Given the description of an element on the screen output the (x, y) to click on. 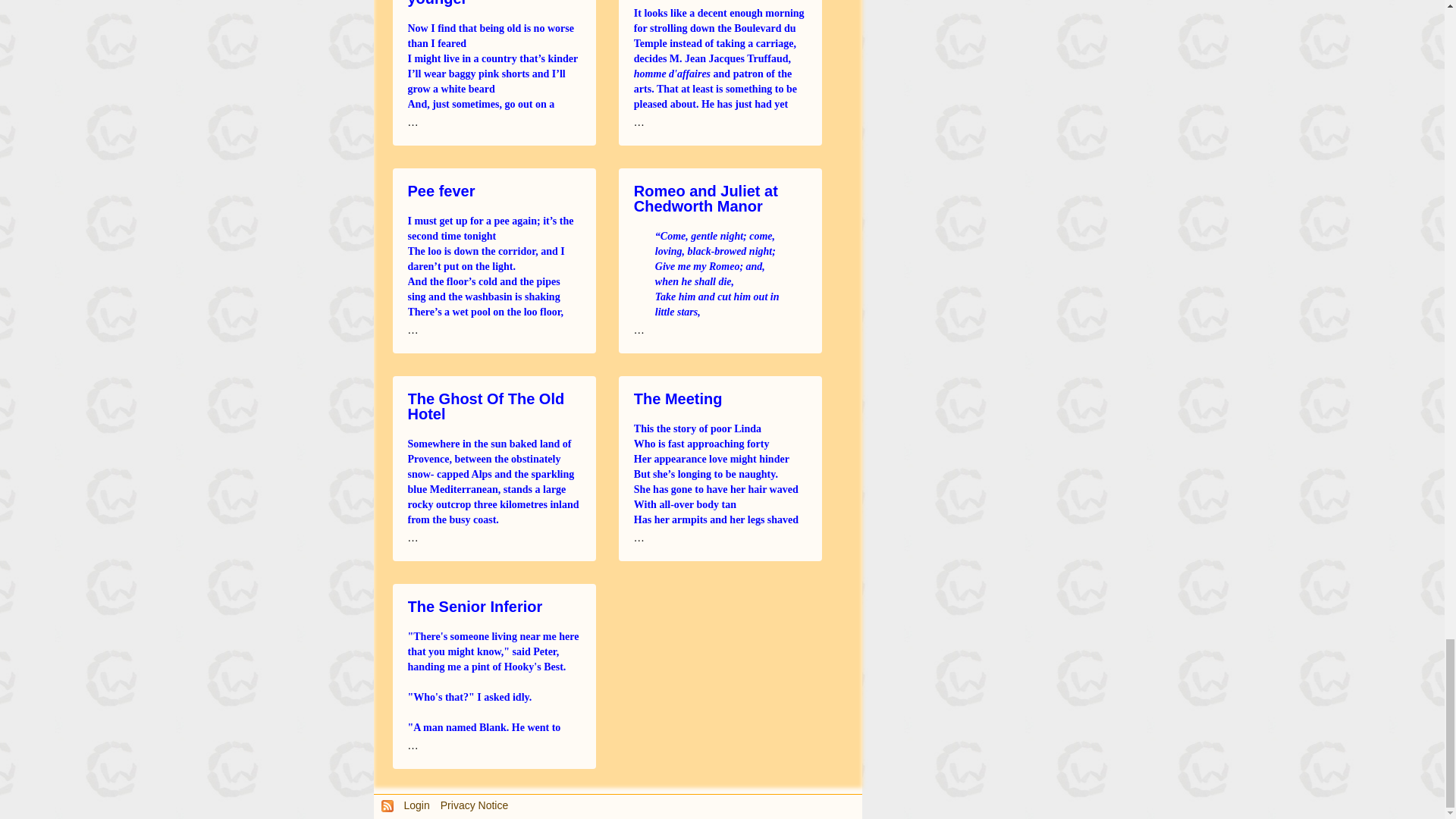
The Ghost Of The Old Hotel (485, 405)
The Senior Inferior (475, 605)
Pee fever (441, 190)
Subscribe to Syndicate (386, 805)
Not getting any younger (462, 2)
